Given the description of an element on the screen output the (x, y) to click on. 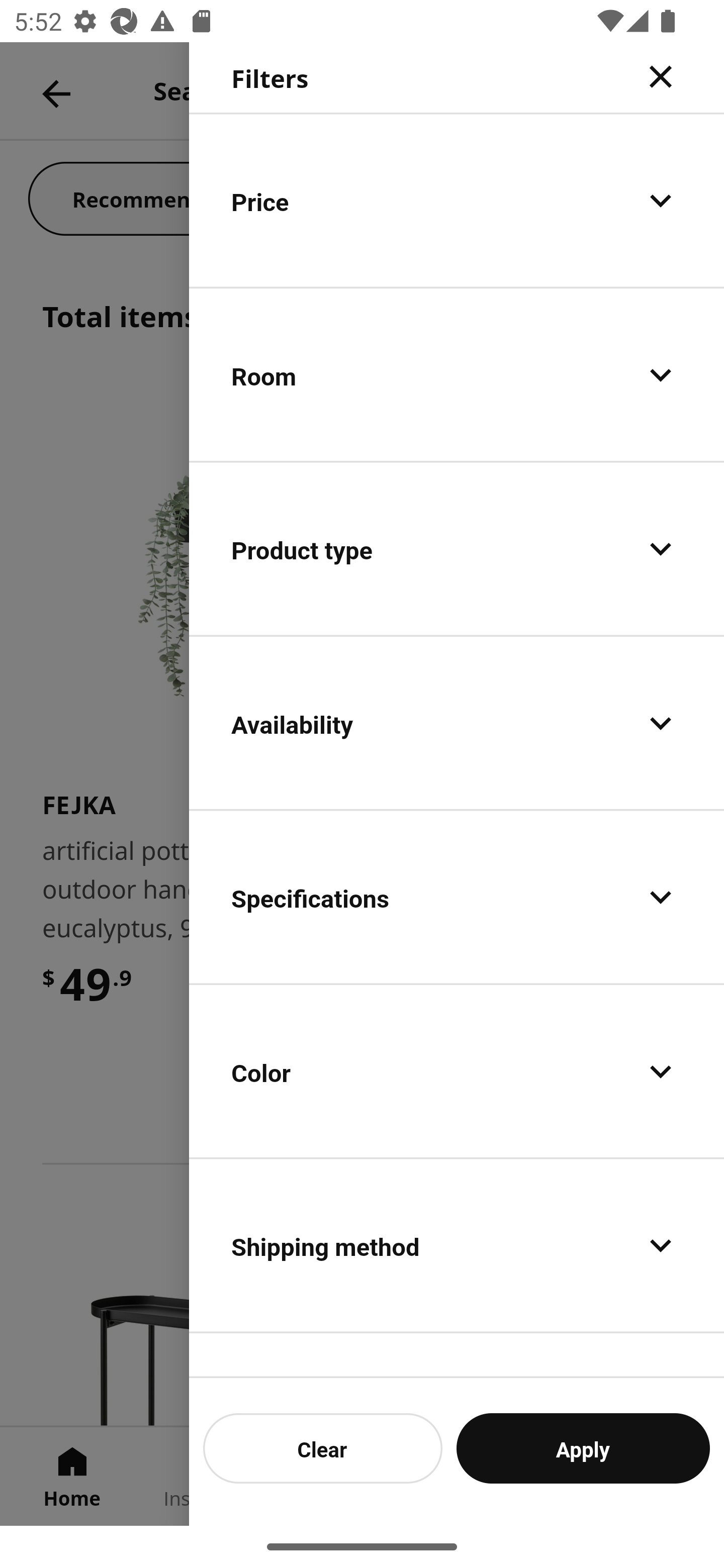
Price (456, 200)
Room (456, 374)
Product type (456, 548)
Availability (456, 722)
Specifications (456, 896)
Color (456, 1070)
Shipping method (456, 1244)
Clear (322, 1447)
Apply (583, 1447)
